Given the description of an element on the screen output the (x, y) to click on. 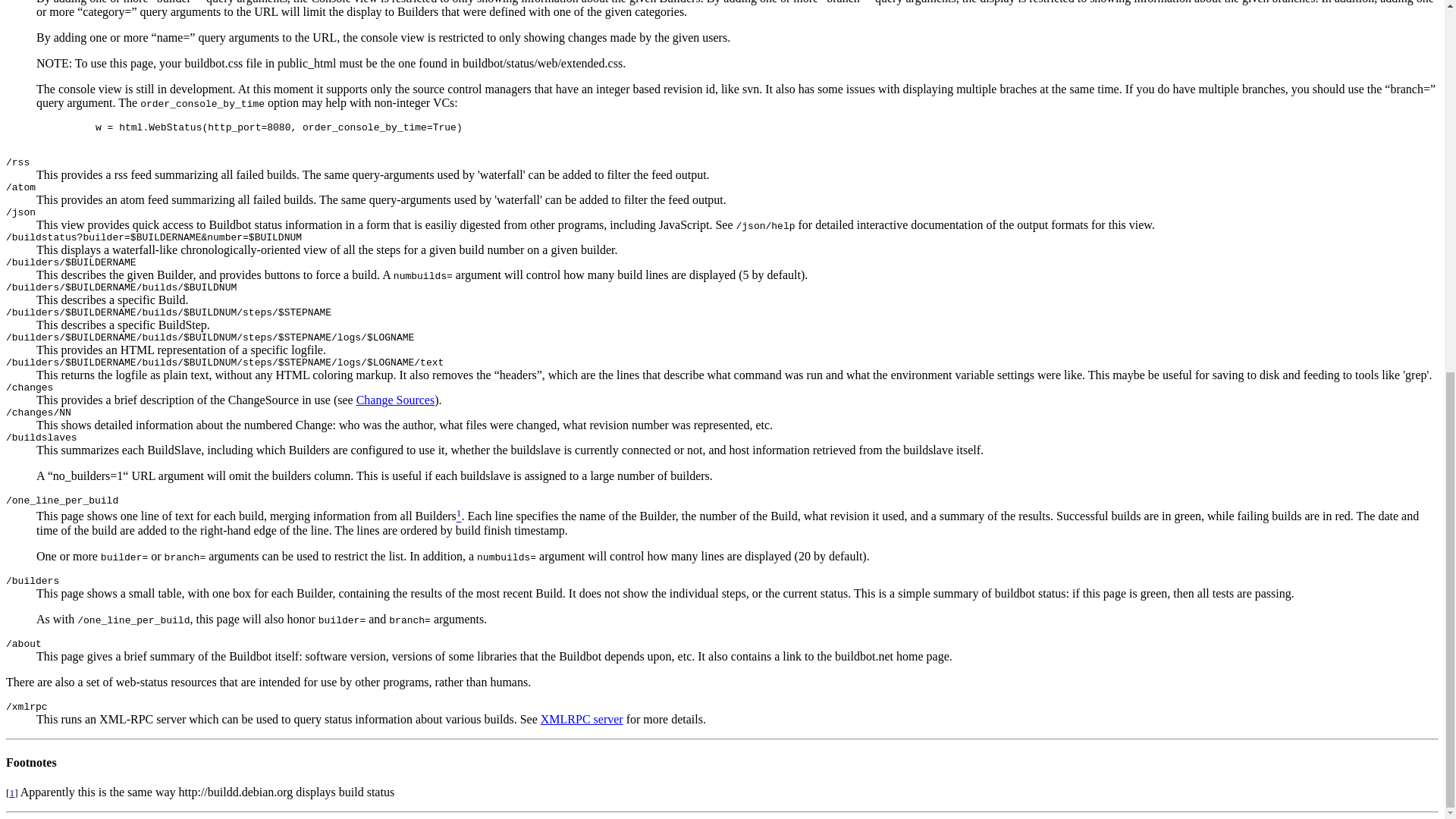
XMLRPC server (581, 718)
Change Sources (395, 399)
1 (459, 516)
1 (11, 792)
